Given the description of an element on the screen output the (x, y) to click on. 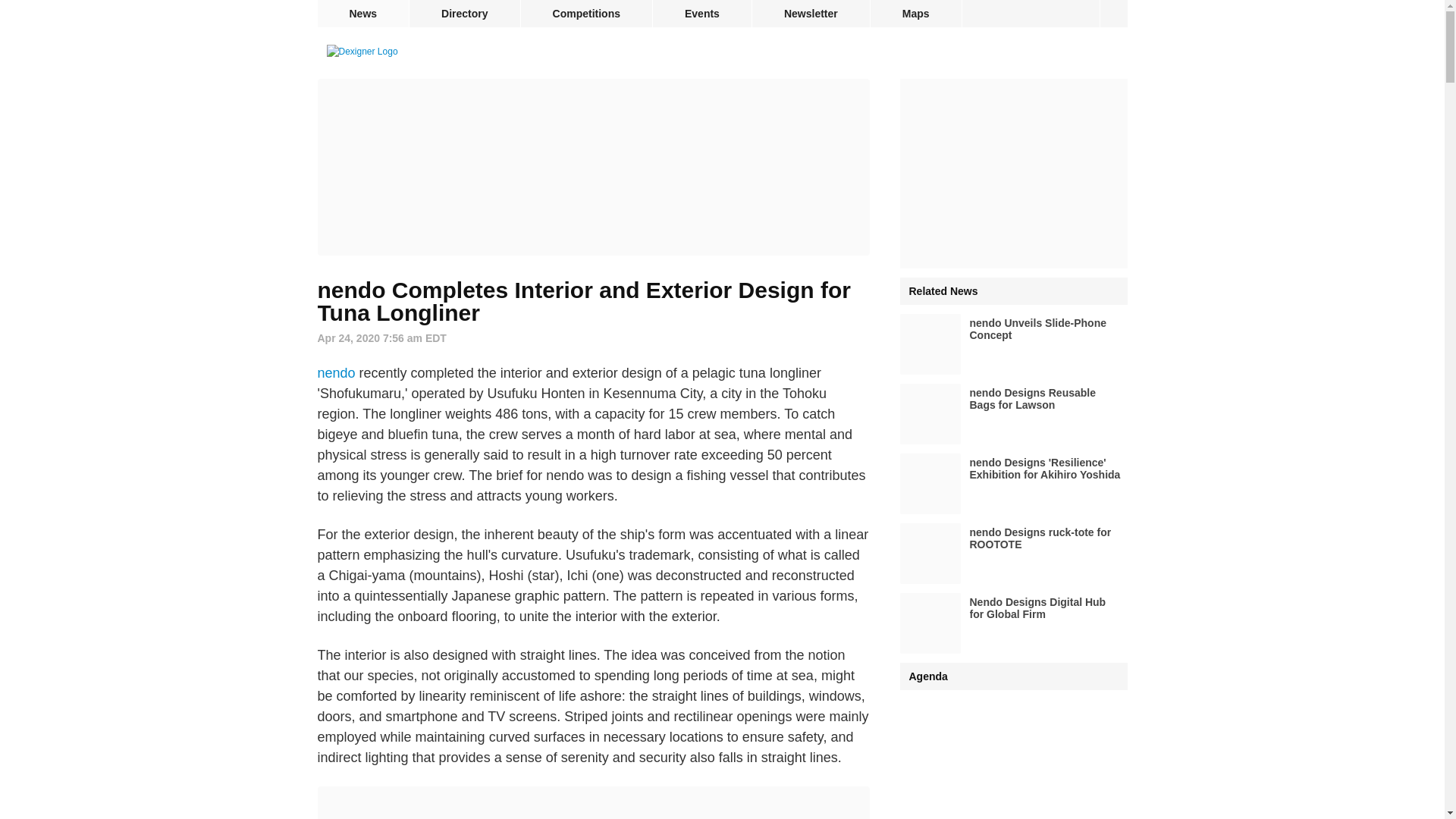
Directory (464, 13)
nendo Unveils Slide-Phone Concept (1012, 343)
Dexigner (361, 51)
nendo (336, 372)
nendo Designs Reusable Bags for Lawson (1012, 414)
nendo Designs ruck-tote for ROOTOTE (1012, 553)
Maps (915, 13)
Events (701, 13)
nendo Designs 'Resilience' Exhibition for Akihiro Yoshida (1012, 483)
Nendo Designs Digital Hub for Global Firm (1012, 622)
follow dexigner (1112, 13)
Newsletter (810, 13)
Competitions (586, 13)
News (363, 13)
